Given the description of an element on the screen output the (x, y) to click on. 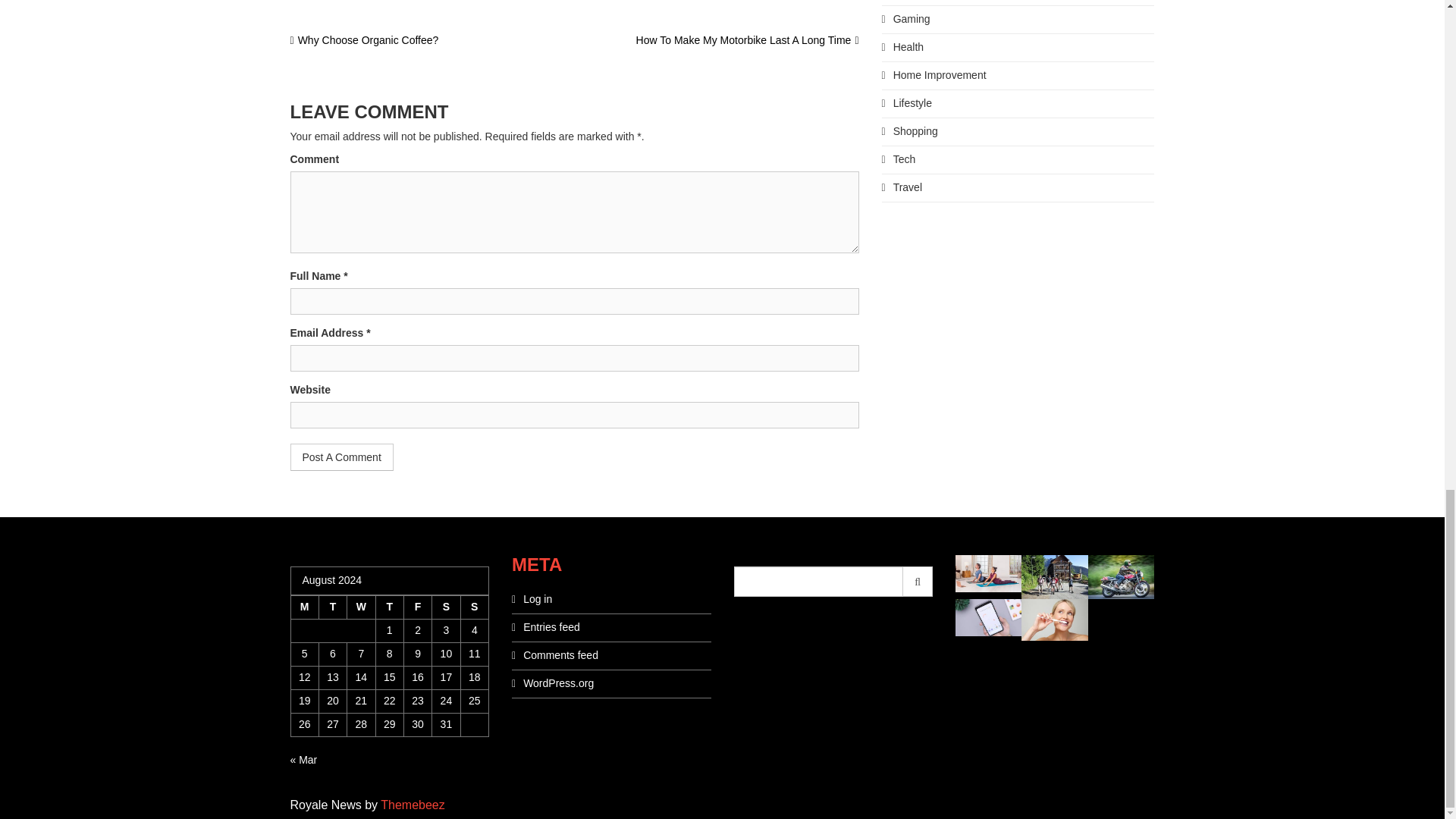
Sunday (473, 607)
Friday (416, 607)
Monday (303, 607)
Post A Comment (341, 456)
Tuesday (332, 607)
Thursday (389, 607)
Wednesday (361, 607)
Saturday (446, 607)
